Given the description of an element on the screen output the (x, y) to click on. 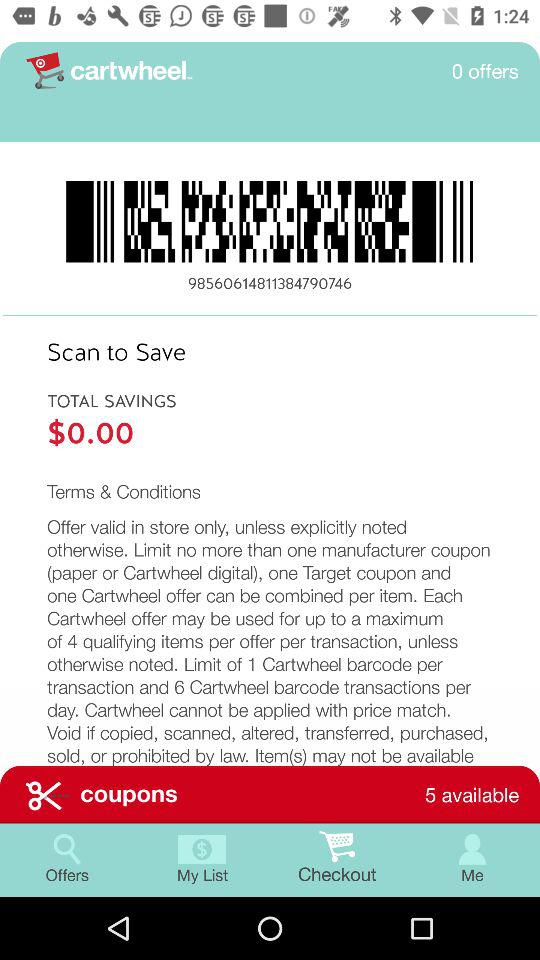
press the 98560614811384790746 icon (269, 283)
